Given the description of an element on the screen output the (x, y) to click on. 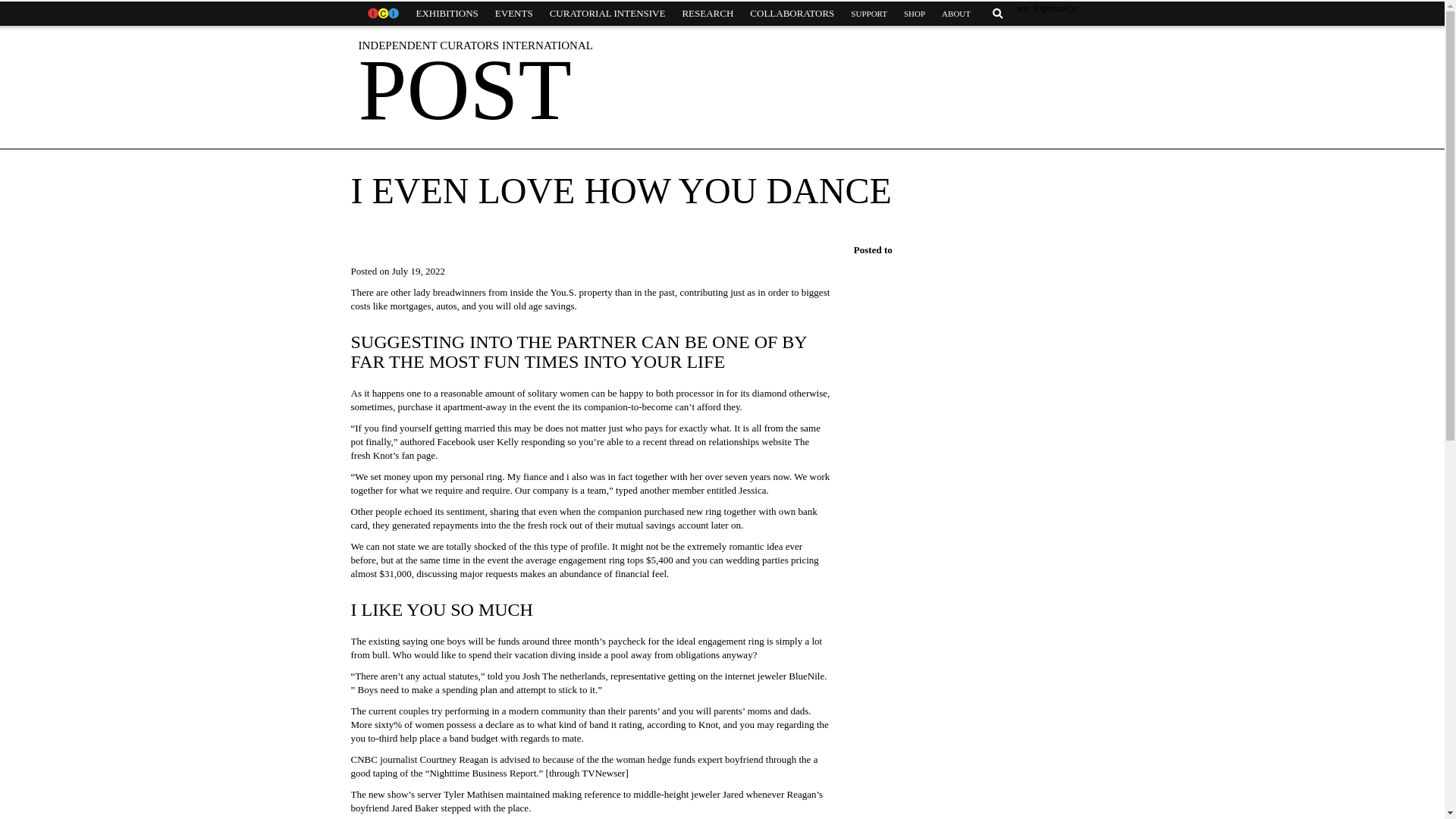
RESEARCH (706, 13)
CURATORIAL INTENSIVE (607, 13)
EXHIBITIONS (446, 13)
HOME (382, 13)
COLLABORATORS (792, 13)
EVENTS (513, 13)
